Given the description of an element on the screen output the (x, y) to click on. 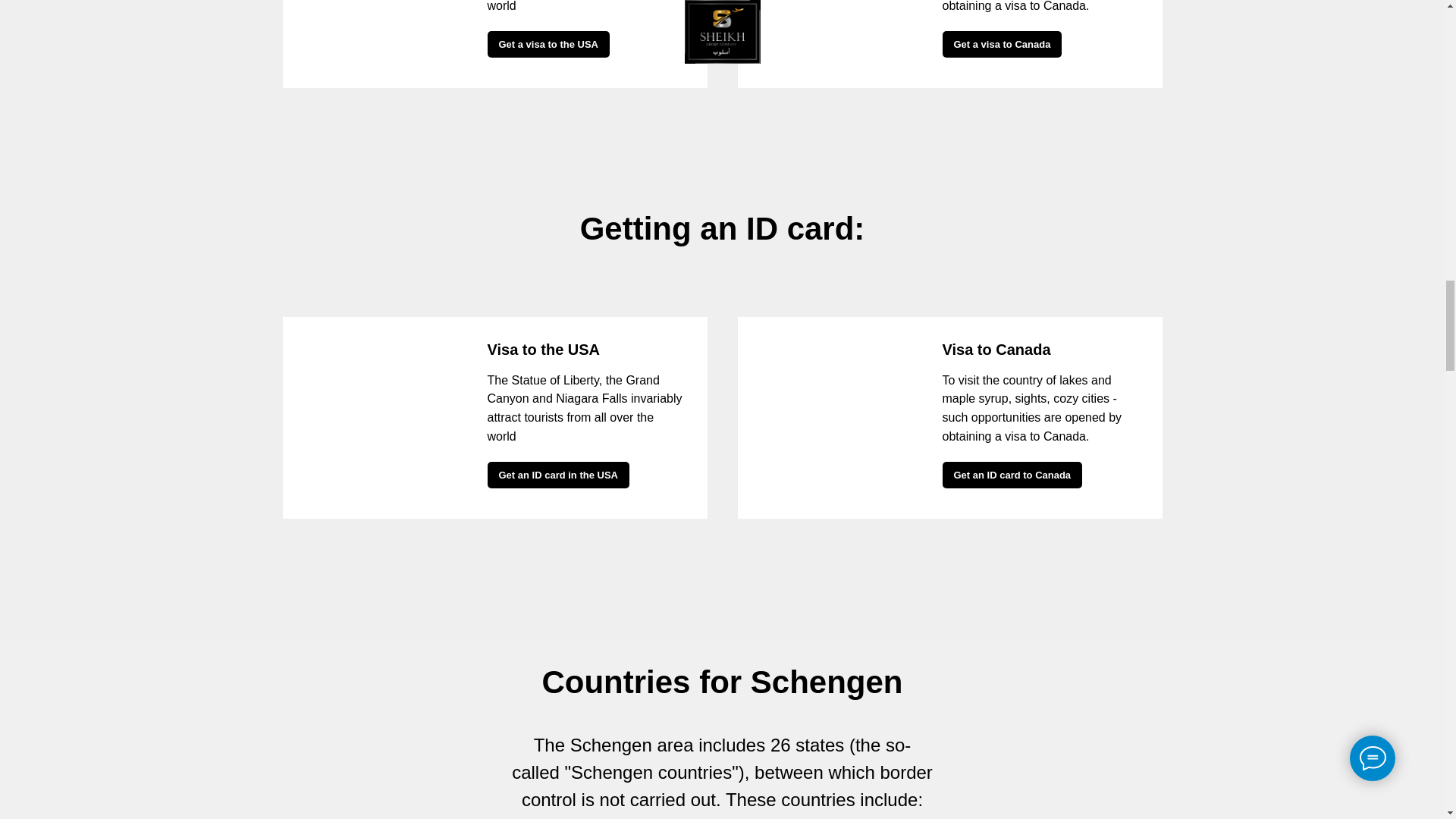
Visa to Canada (995, 349)
Visa to the USA (542, 349)
